Given the description of an element on the screen output the (x, y) to click on. 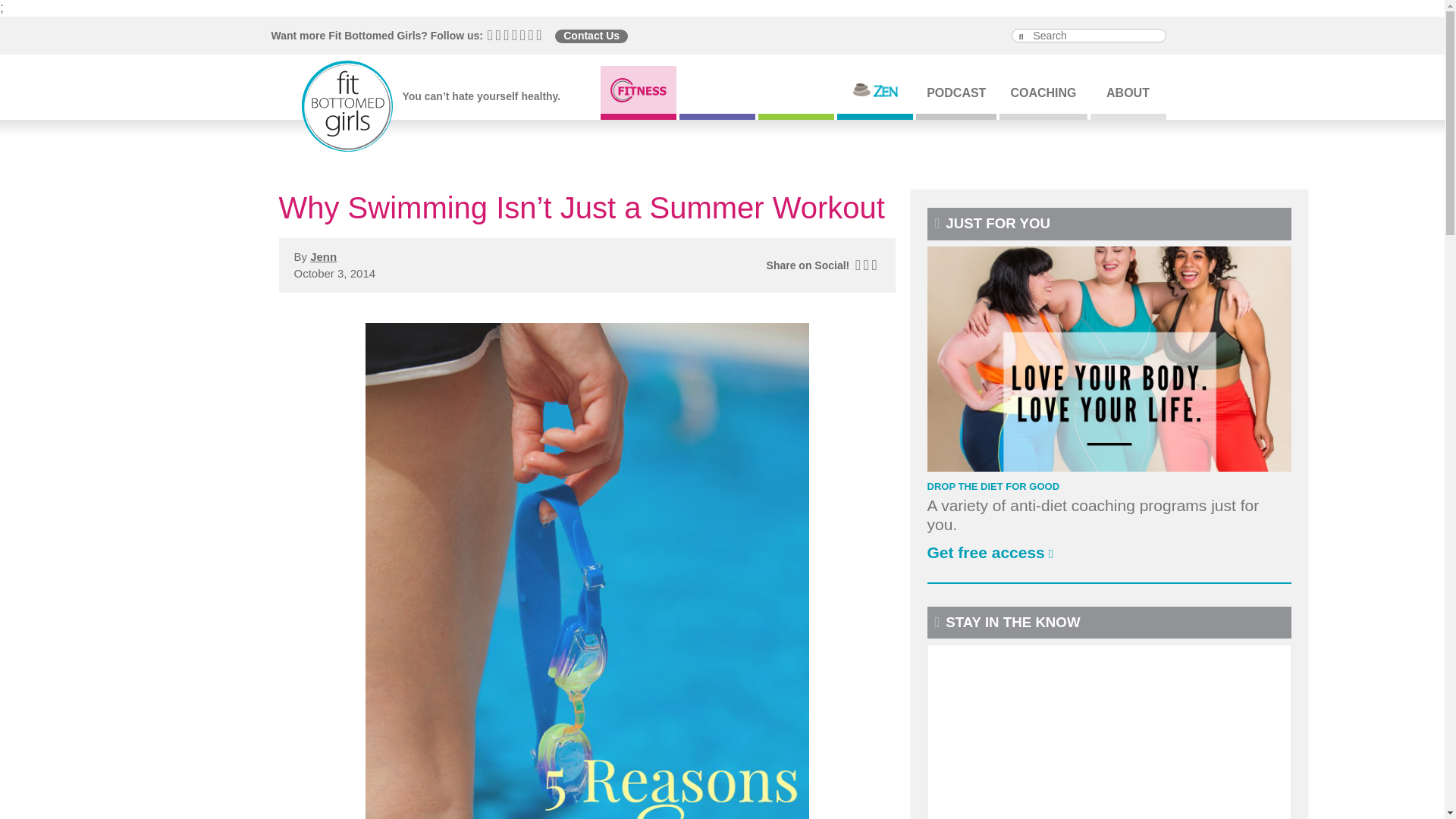
Contact Us (590, 36)
Posts by Jenn (323, 256)
